Given the description of an element on the screen output the (x, y) to click on. 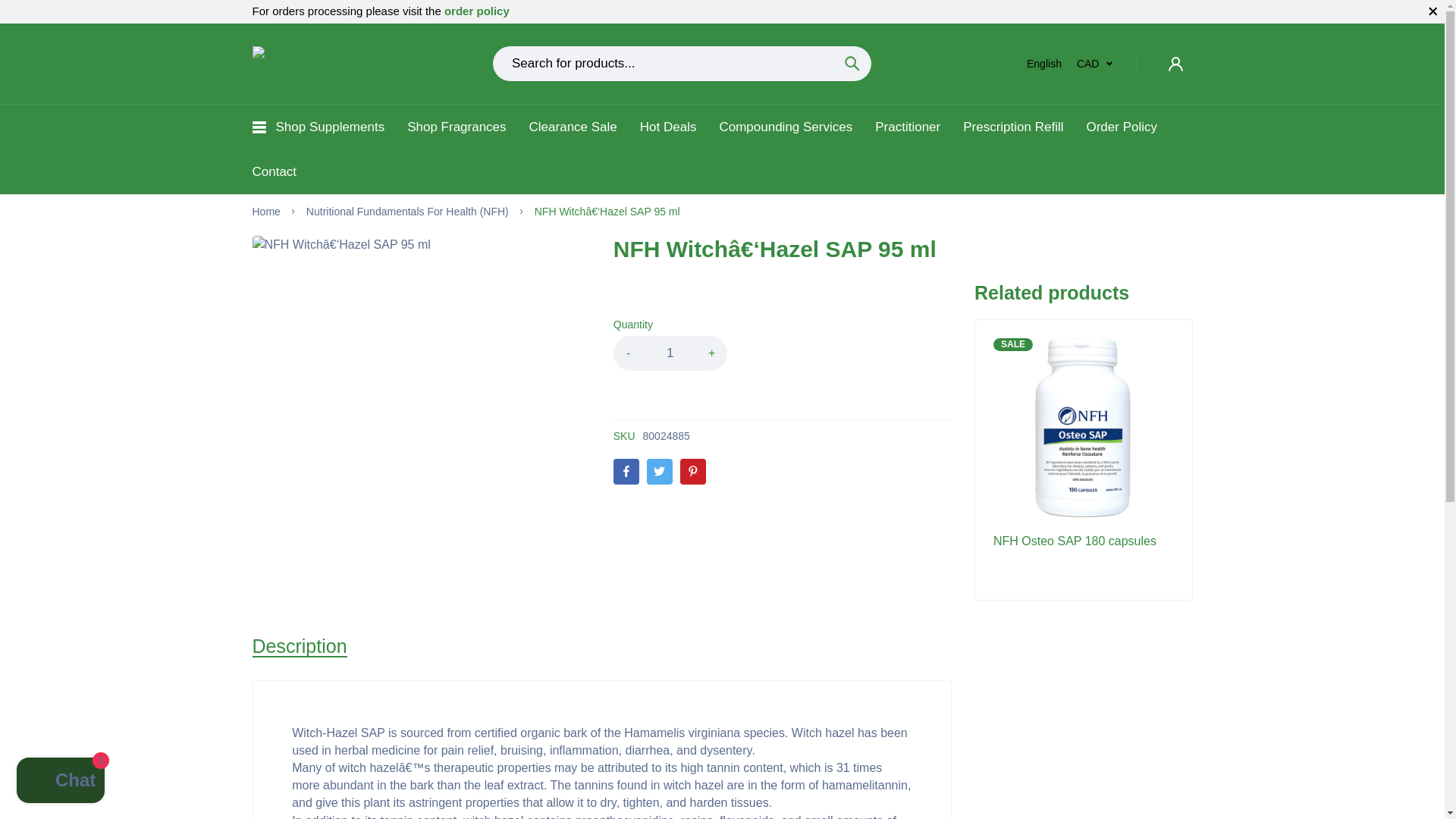
Smith's Compounding Pharmacy  (332, 63)
Facebook (625, 471)
Prescription Refill (1012, 126)
1 (669, 353)
CAD (1095, 63)
Clearance Sale (573, 126)
order policy (476, 10)
Hot Deals (668, 126)
Practitioner (907, 126)
Compounding Services (785, 126)
Shop Supplements (330, 126)
Twitter (659, 471)
Pinterest (692, 471)
Shop Fragrances (456, 126)
Order Policy (1121, 126)
